Given the description of an element on the screen output the (x, y) to click on. 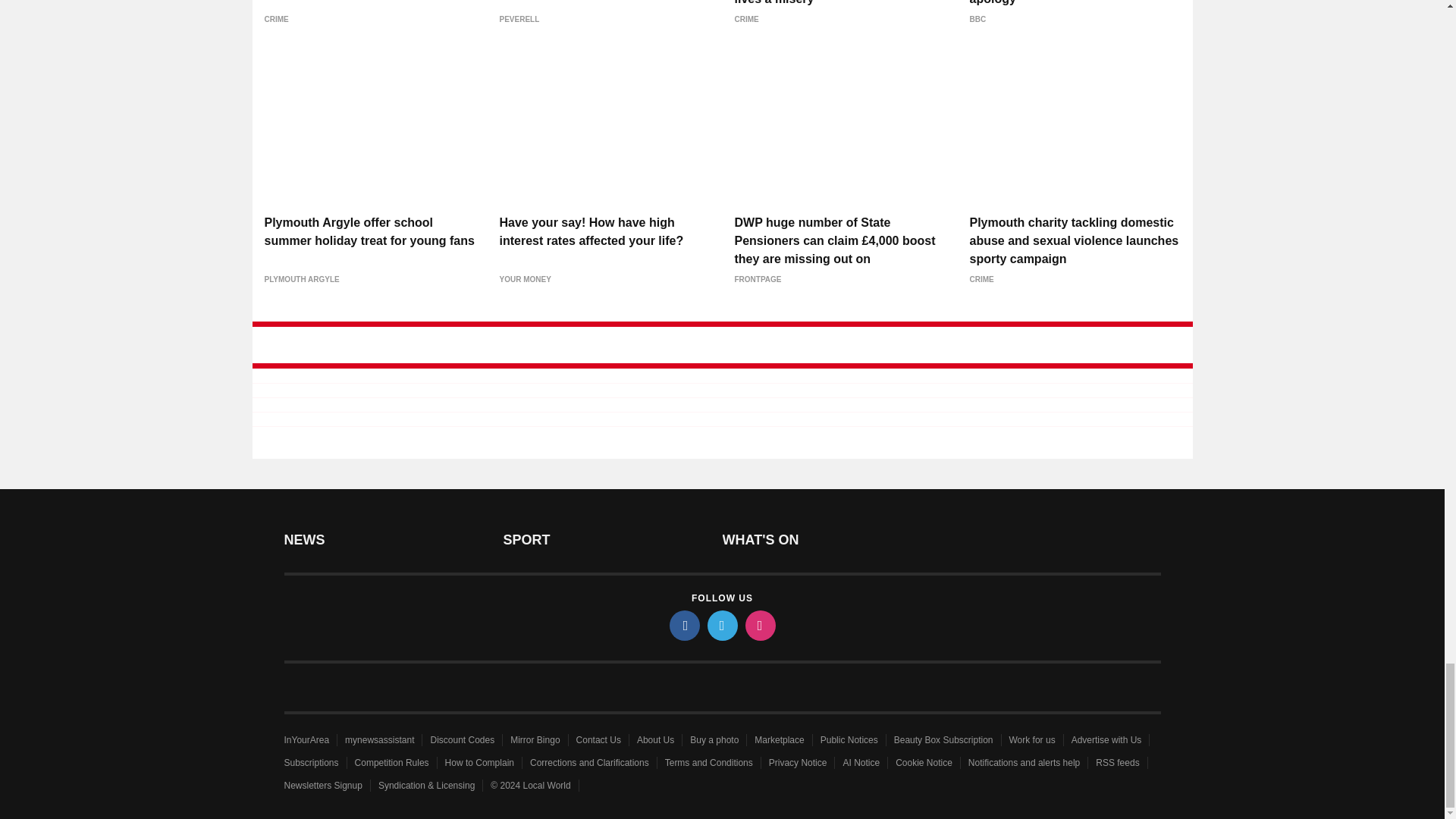
twitter (721, 625)
instagram (759, 625)
facebook (683, 625)
